Given the description of an element on the screen output the (x, y) to click on. 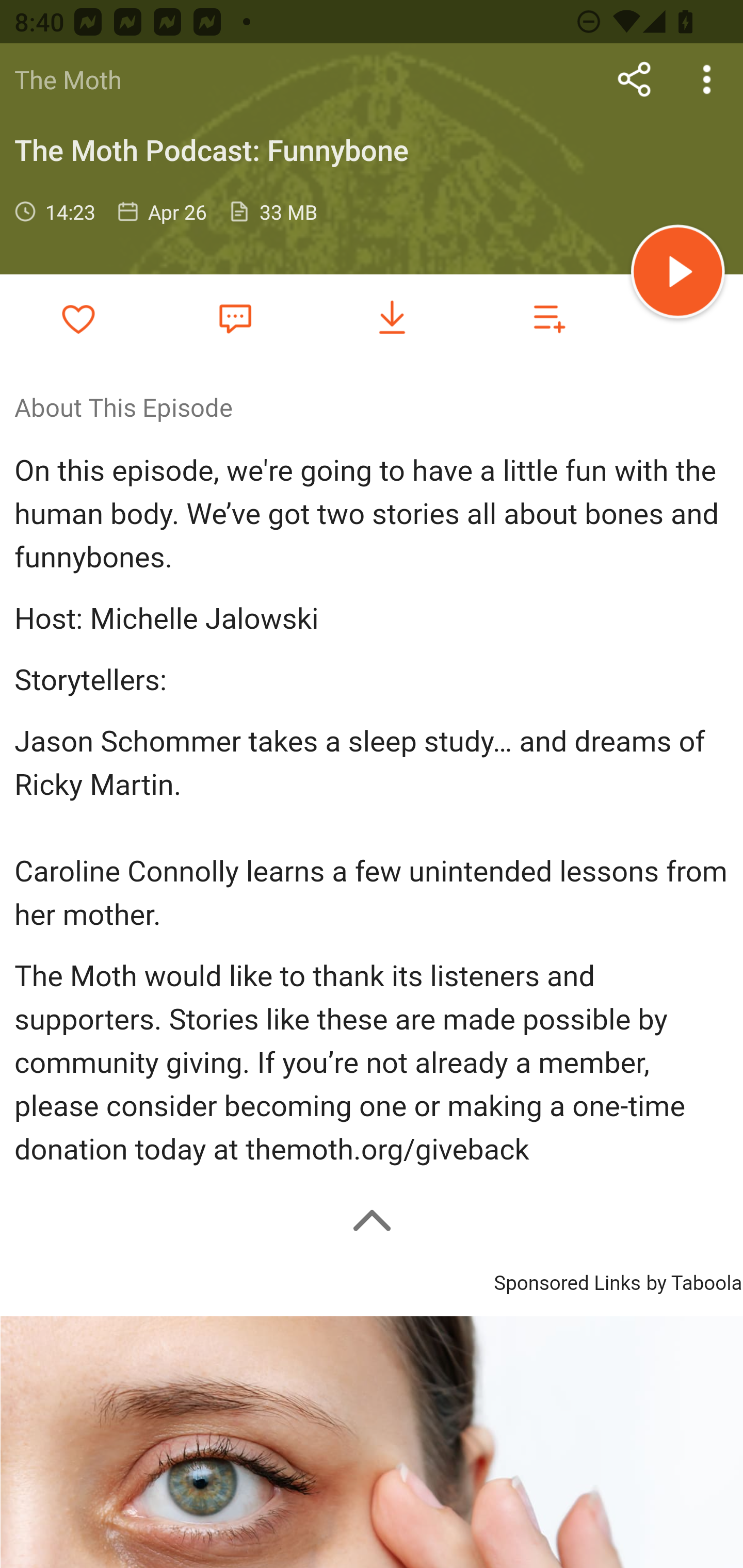
Share (634, 79)
more options (706, 79)
Play (677, 274)
Favorite (234, 317)
Add to Favorites (78, 317)
Download (391, 317)
Add to playlist (548, 317)
Sponsored Links (566, 1280)
by Taboola (693, 1280)
Image for Taboola Advertising Unit (371, 1441)
